Given the description of an element on the screen output the (x, y) to click on. 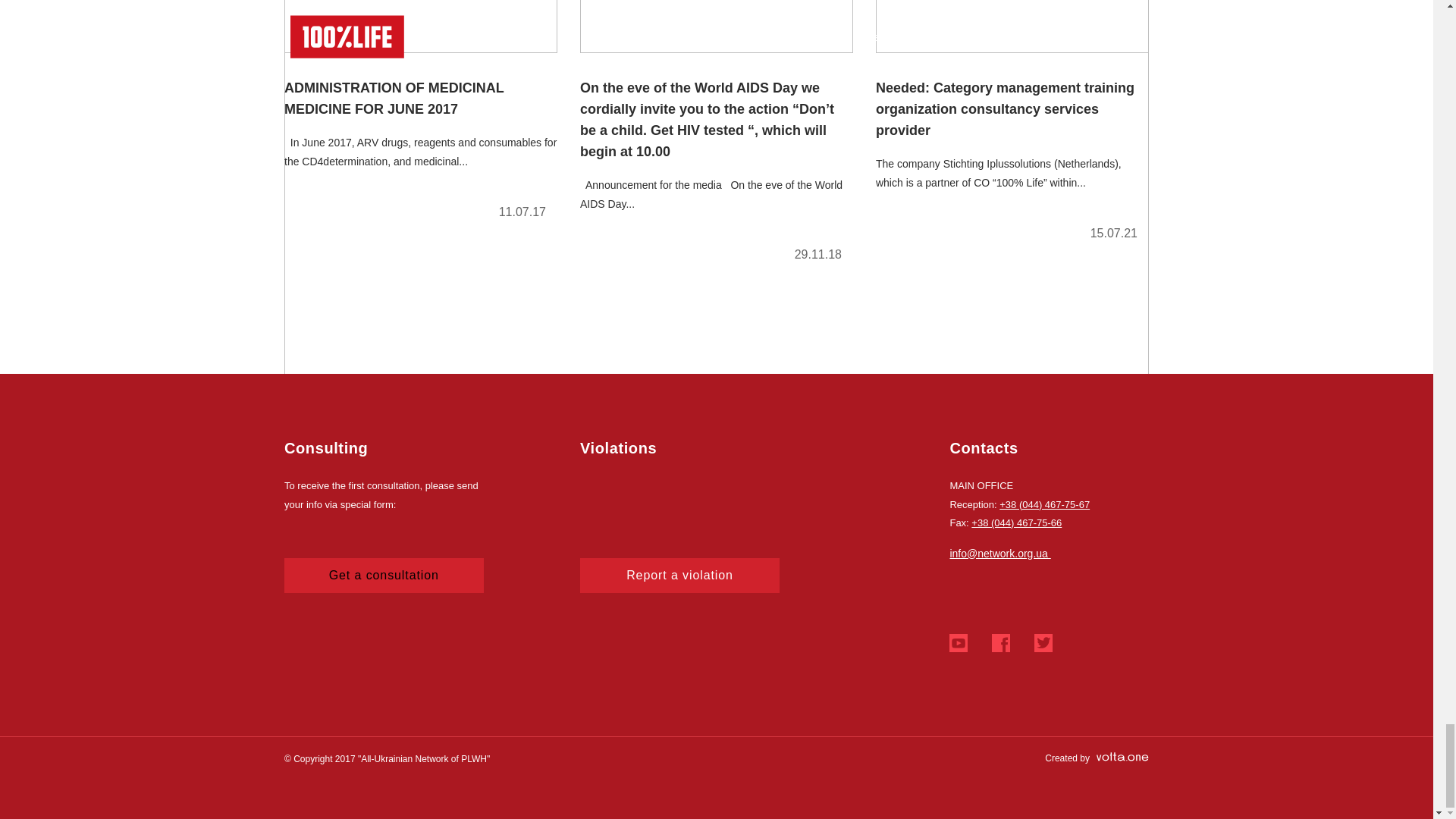
Get a consultation (383, 574)
Created by (1096, 757)
Report a violation (678, 574)
ADMINISTRATION OF MEDICINAL MEDICINE FOR JUNE 2017 (420, 116)
Report a violation (678, 574)
Get a consultation (383, 574)
